Given the description of an element on the screen output the (x, y) to click on. 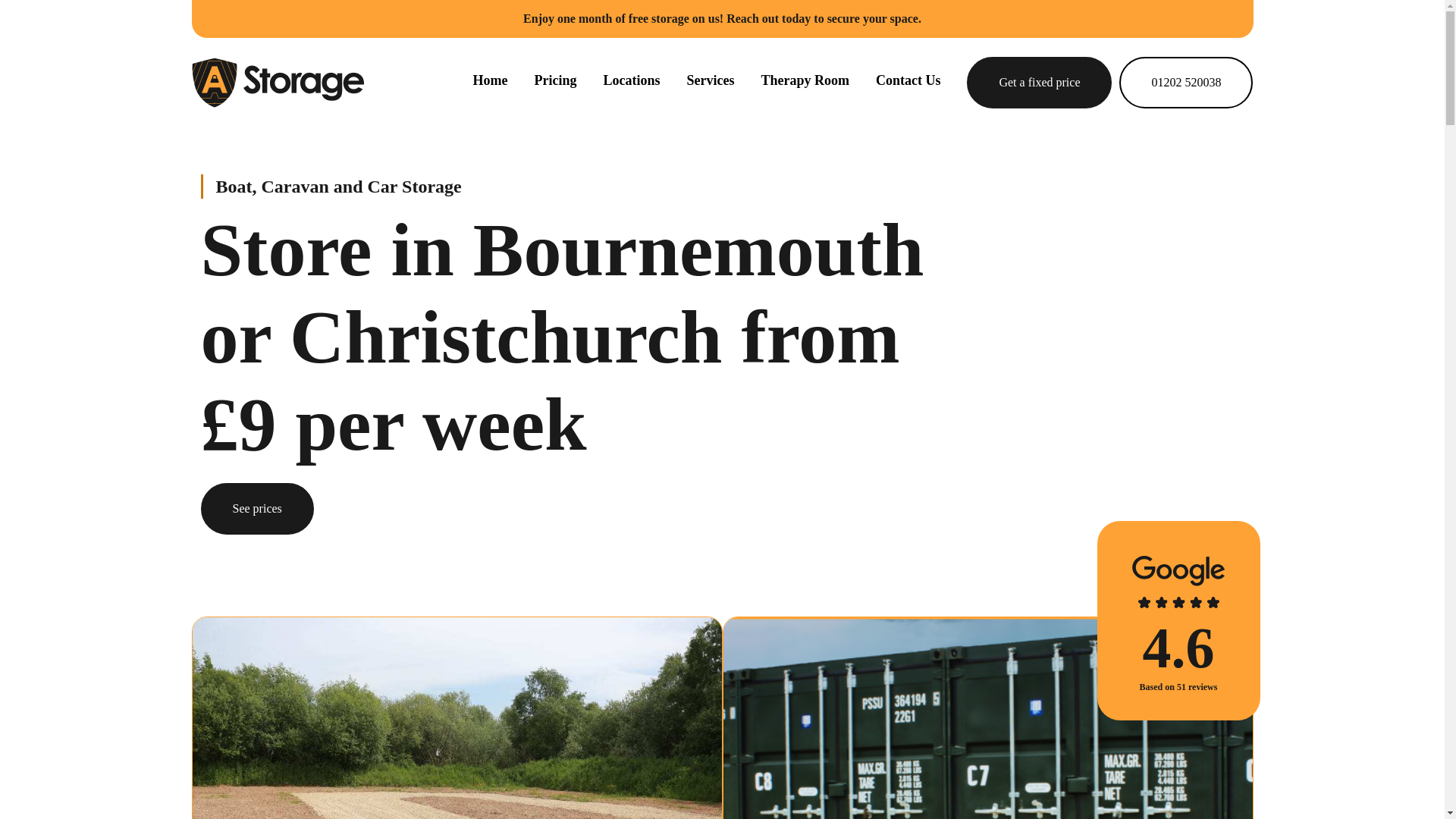
Get a fixed price (1039, 82)
Locations (630, 80)
See prices (256, 508)
Therapy Room (804, 80)
Contact Us (908, 80)
01202 520038 (1185, 82)
Home (276, 82)
Home (488, 80)
Pricing (555, 80)
Services (709, 80)
